Given the description of an element on the screen output the (x, y) to click on. 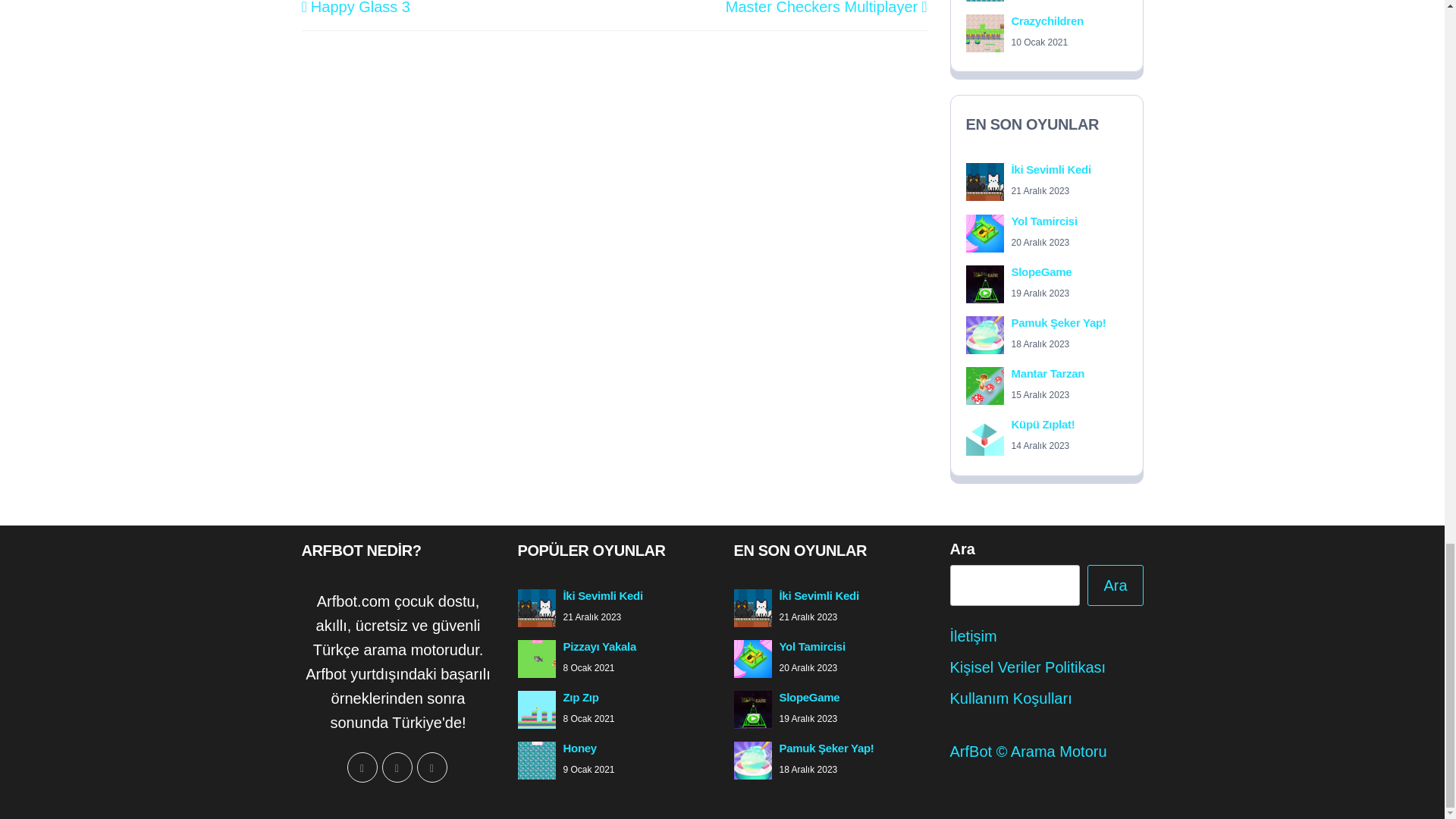
Facebook (362, 767)
Instagram (396, 767)
Youtube (431, 767)
Yol Tamircisi (1044, 220)
Crazychildren (1047, 20)
Mantar Tarzan (1047, 373)
SlopeGame (1041, 271)
